Given the description of an element on the screen output the (x, y) to click on. 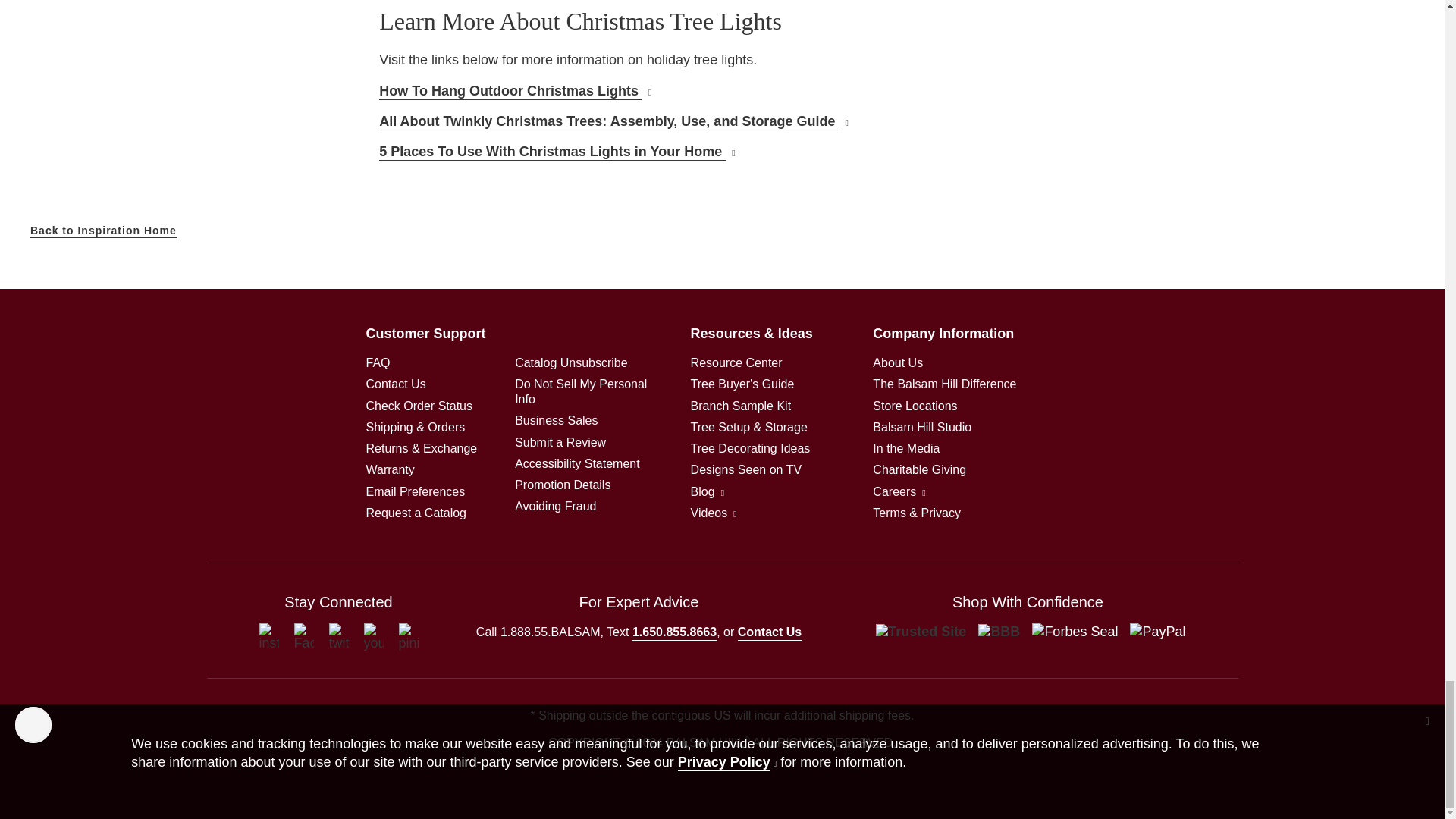
How To Hang Outdoor Christmas Lights (514, 91)
FAQ (377, 363)
5 Places To Use With Christmas Lights in Your Home (556, 152)
Contact Us (395, 384)
Check Order Status (418, 406)
Back to Inspiration Home (103, 231)
